Given the description of an element on the screen output the (x, y) to click on. 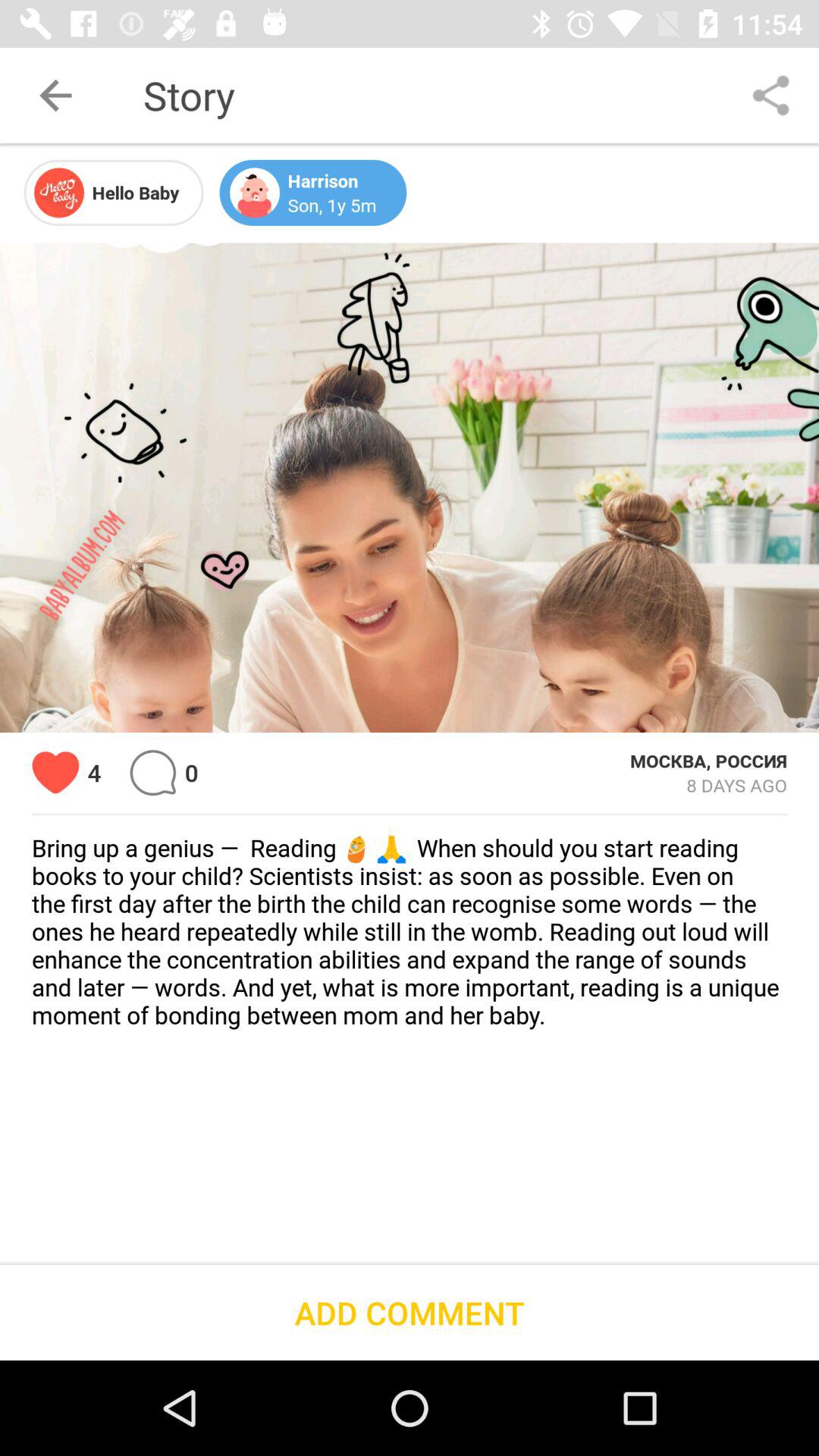
select the icon next to the story item (771, 95)
